Given the description of an element on the screen output the (x, y) to click on. 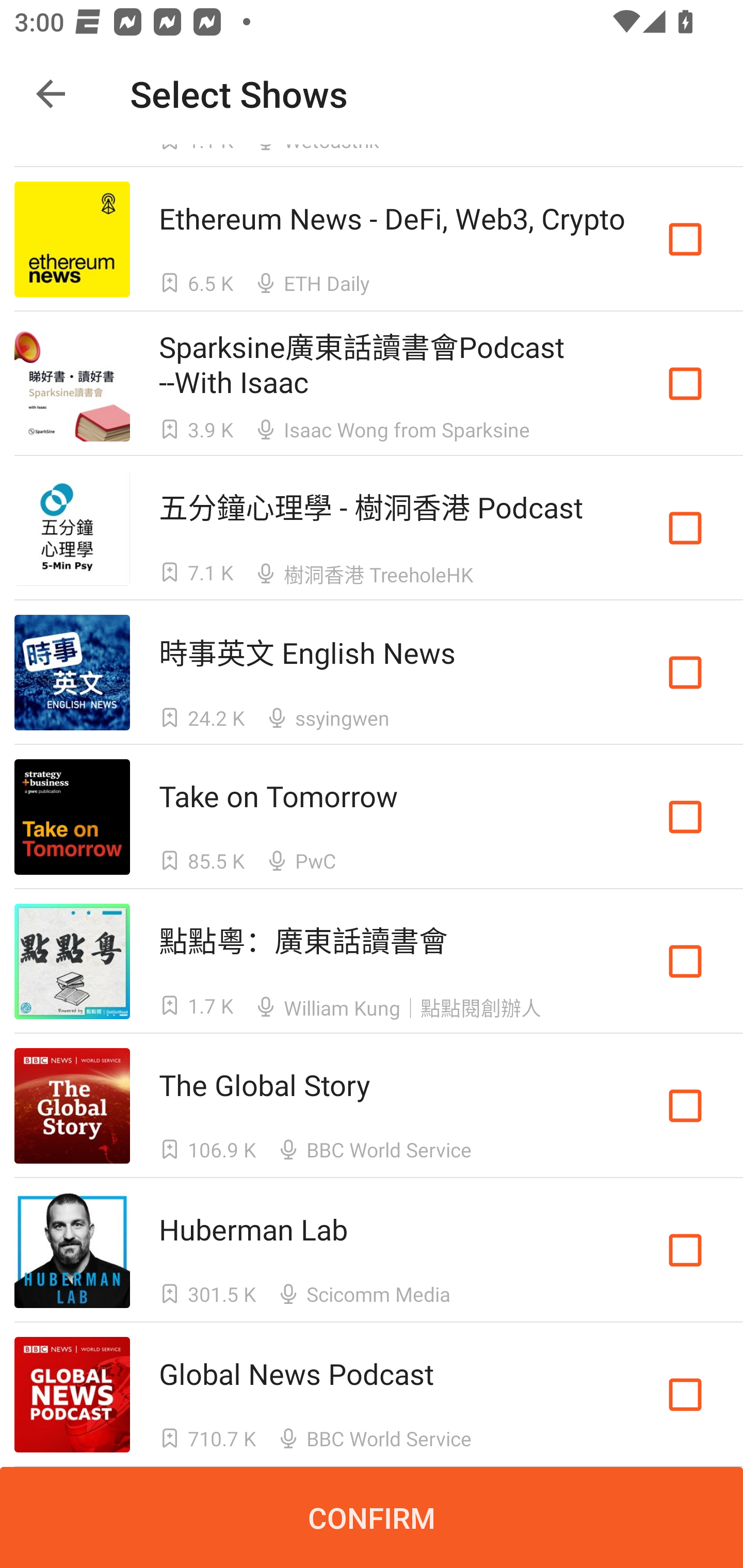
Navigate up (50, 93)
Take on Tomorrow Take on Tomorrow  85.5 K  PwC (371, 816)
CONFIRM (371, 1517)
